Given the description of an element on the screen output the (x, y) to click on. 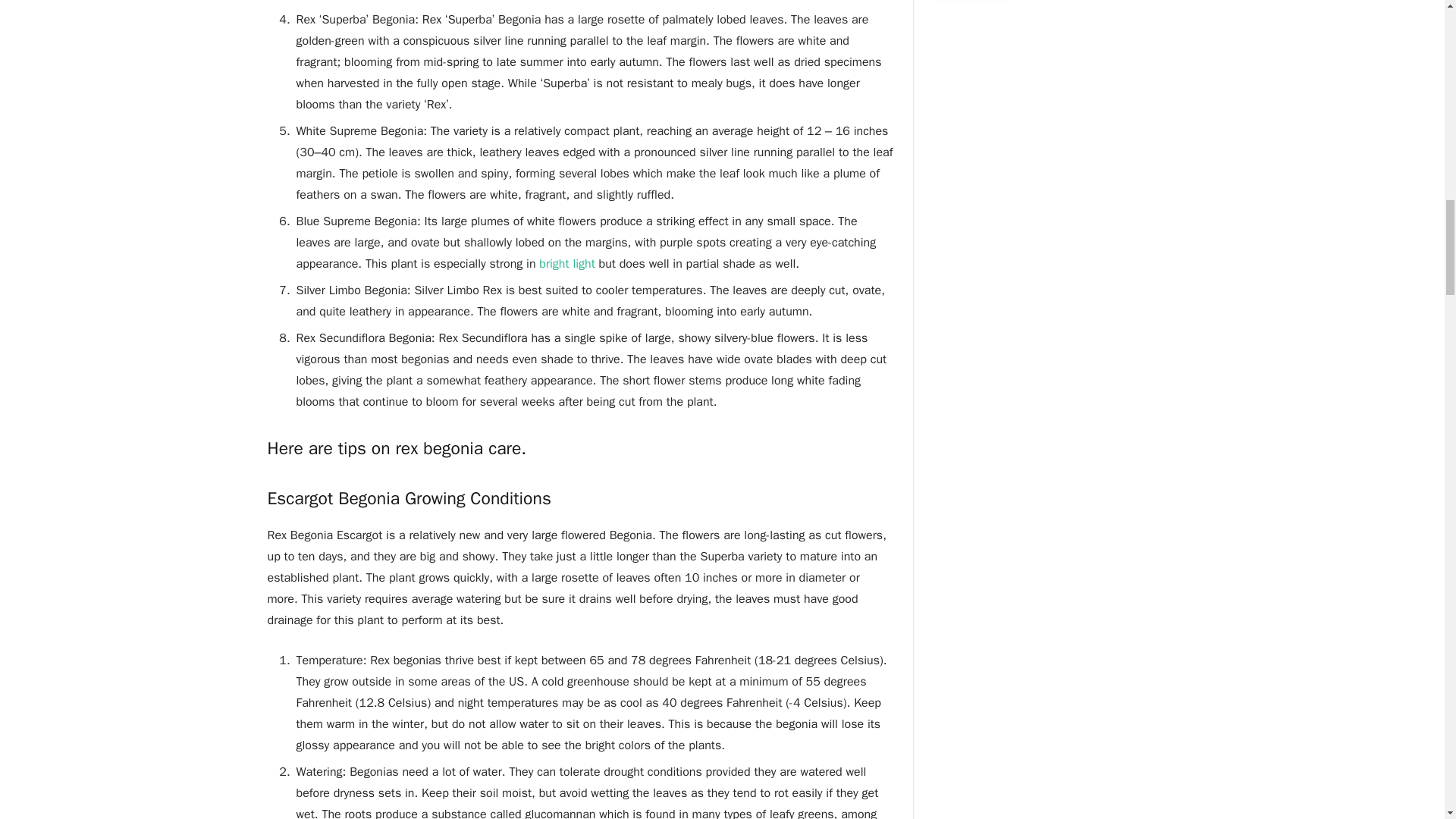
bright light (566, 263)
